Given the description of an element on the screen output the (x, y) to click on. 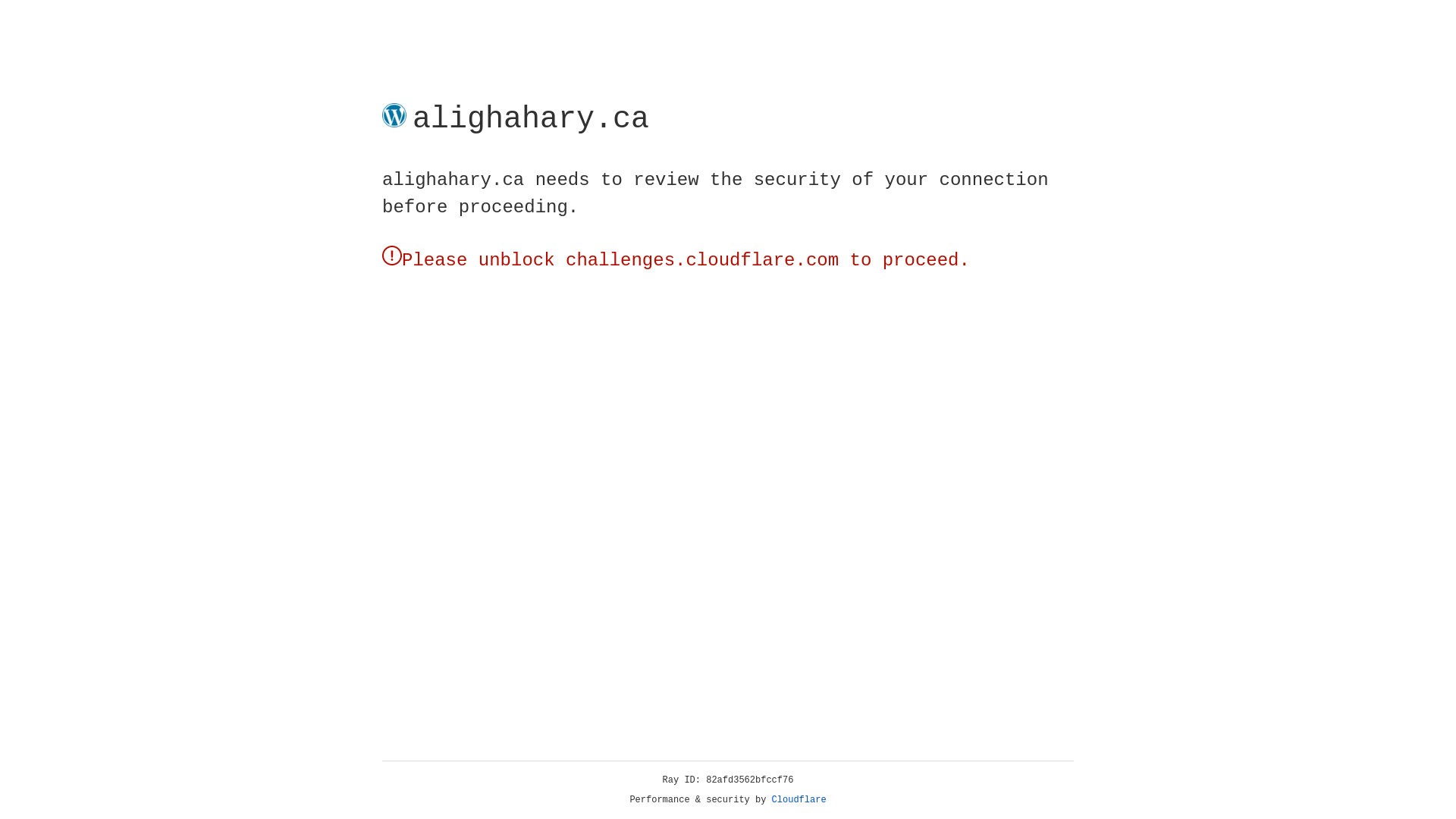
Cloudflare Element type: text (798, 799)
